Given the description of an element on the screen output the (x, y) to click on. 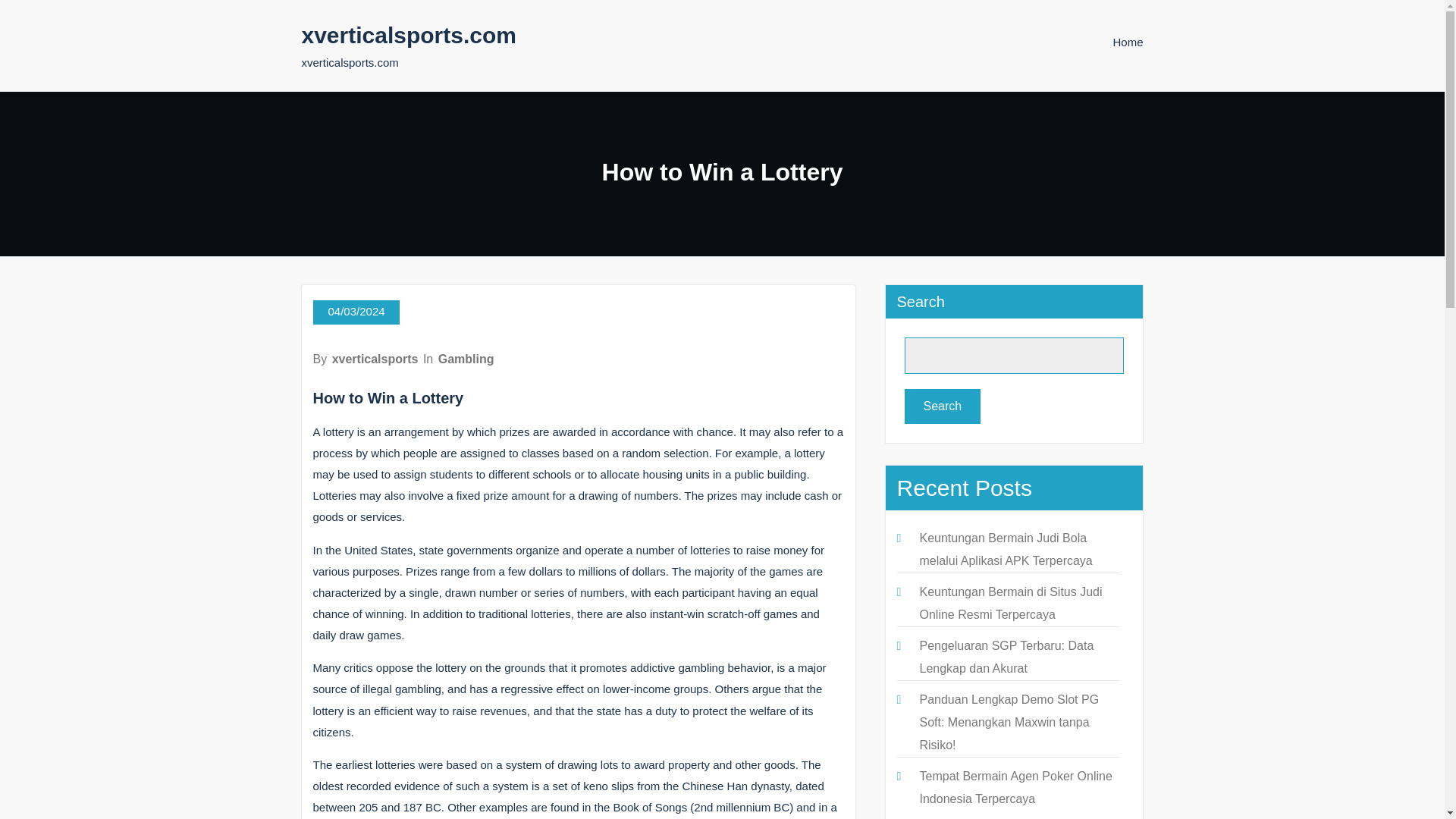
xverticalsports.com (408, 34)
xverticalsports (375, 358)
Keuntungan Bermain Judi Bola melalui Aplikasi APK Terpercaya (1005, 549)
Keuntungan Bermain di Situs Judi Online Resmi Terpercaya (1010, 602)
Tempat Bermain Agen Poker Online Indonesia Terpercaya (1015, 787)
Pengeluaran SGP Terbaru: Data Lengkap dan Akurat (1005, 656)
Home (1127, 41)
Search (941, 406)
Gambling (466, 358)
